Given the description of an element on the screen output the (x, y) to click on. 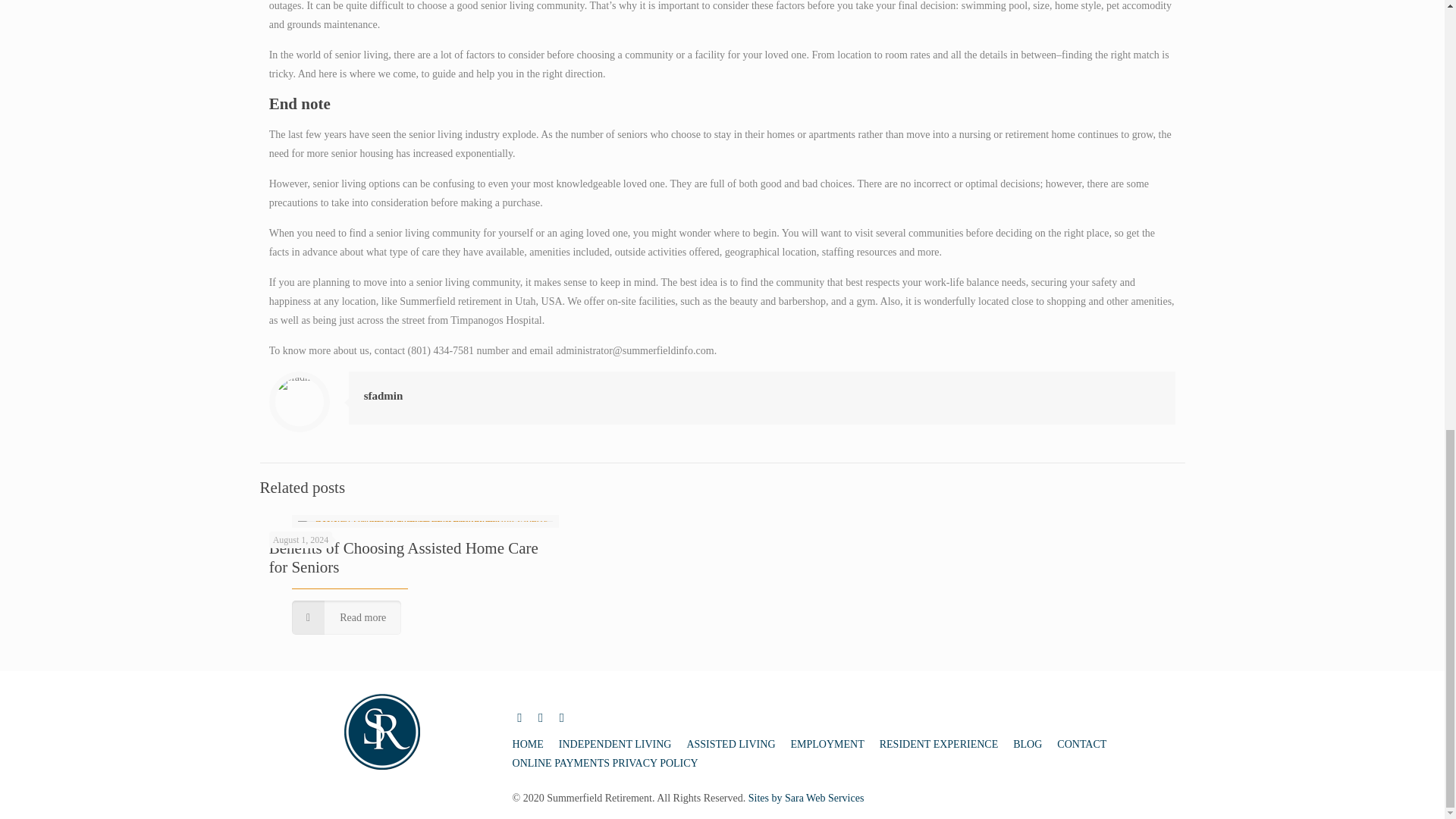
ASSISTED LIVING (729, 744)
RESIDENT EXPERIENCE (938, 744)
INDEPENDENT LIVING (615, 744)
EMPLOYMENT (826, 744)
Benefits of Choosing Assisted Home Care for Seniors (403, 557)
BLOG (1027, 744)
ONLINE PAYMENTS PRIVACY POLICY (605, 763)
Sites by Sara Web Services (806, 797)
CONTACT (1081, 744)
Read more (346, 617)
